Given the description of an element on the screen output the (x, y) to click on. 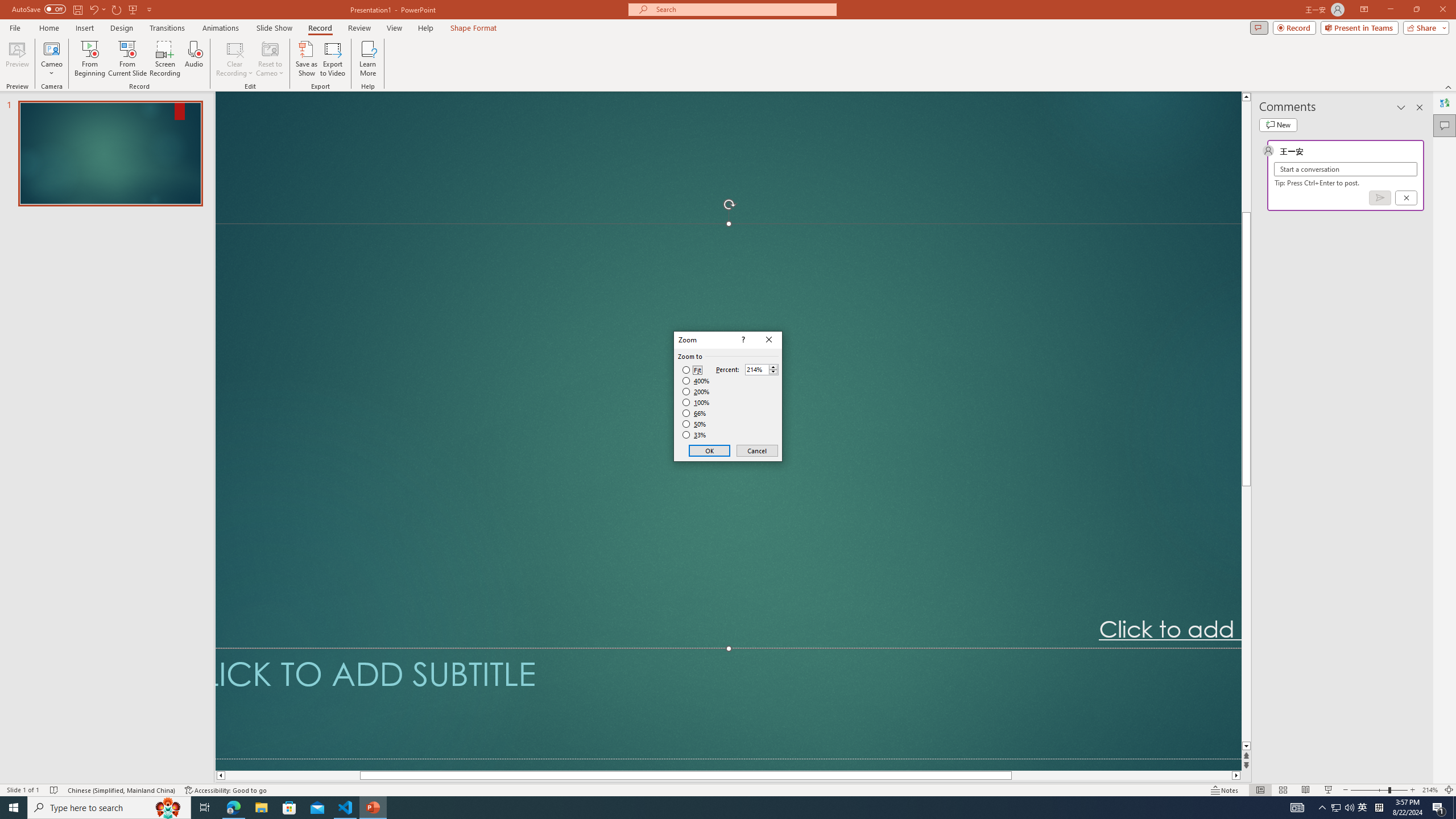
OK (709, 450)
